Given the description of an element on the screen output the (x, y) to click on. 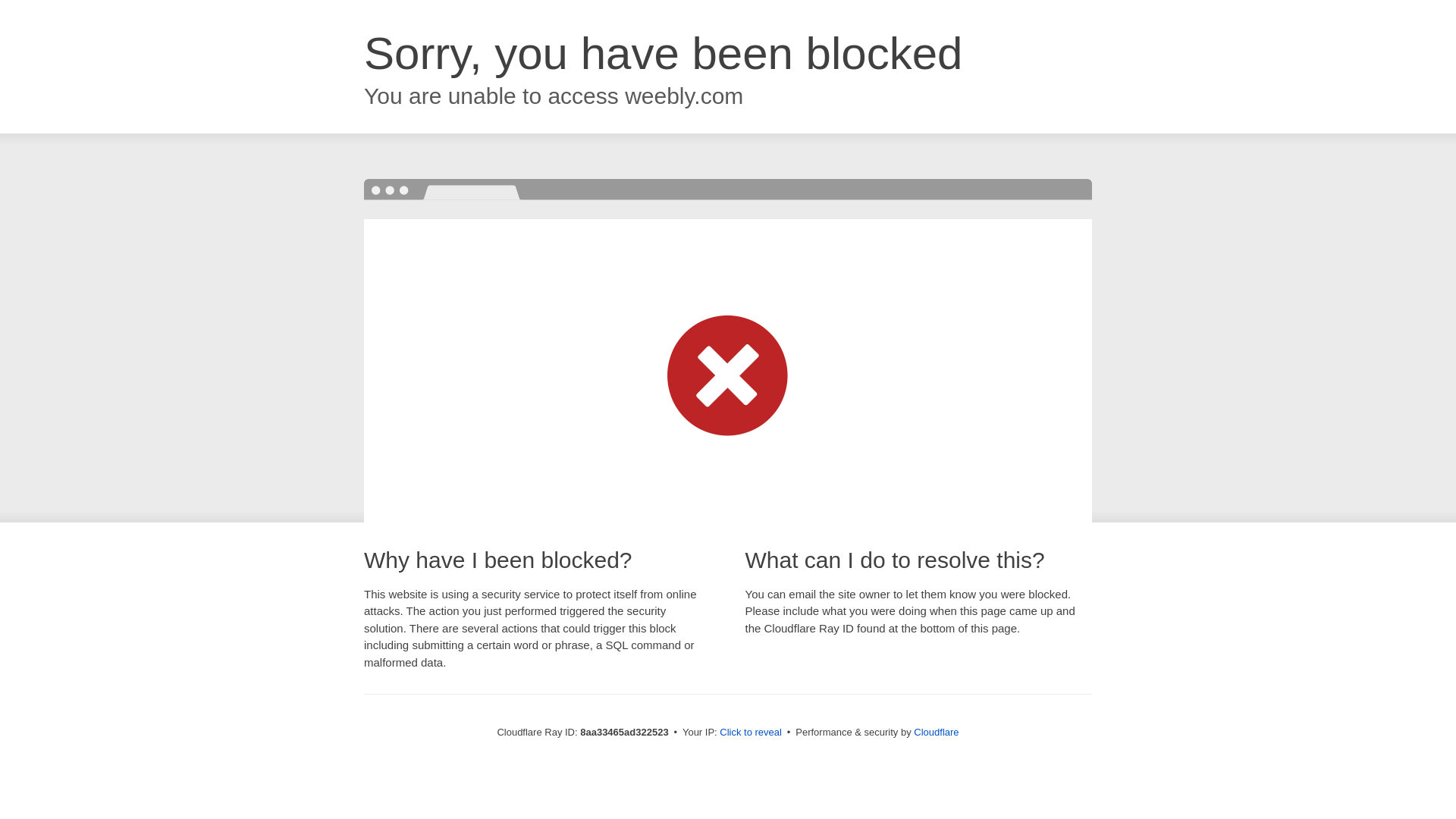
Click to reveal (750, 732)
Cloudflare (936, 731)
